Given the description of an element on the screen output the (x, y) to click on. 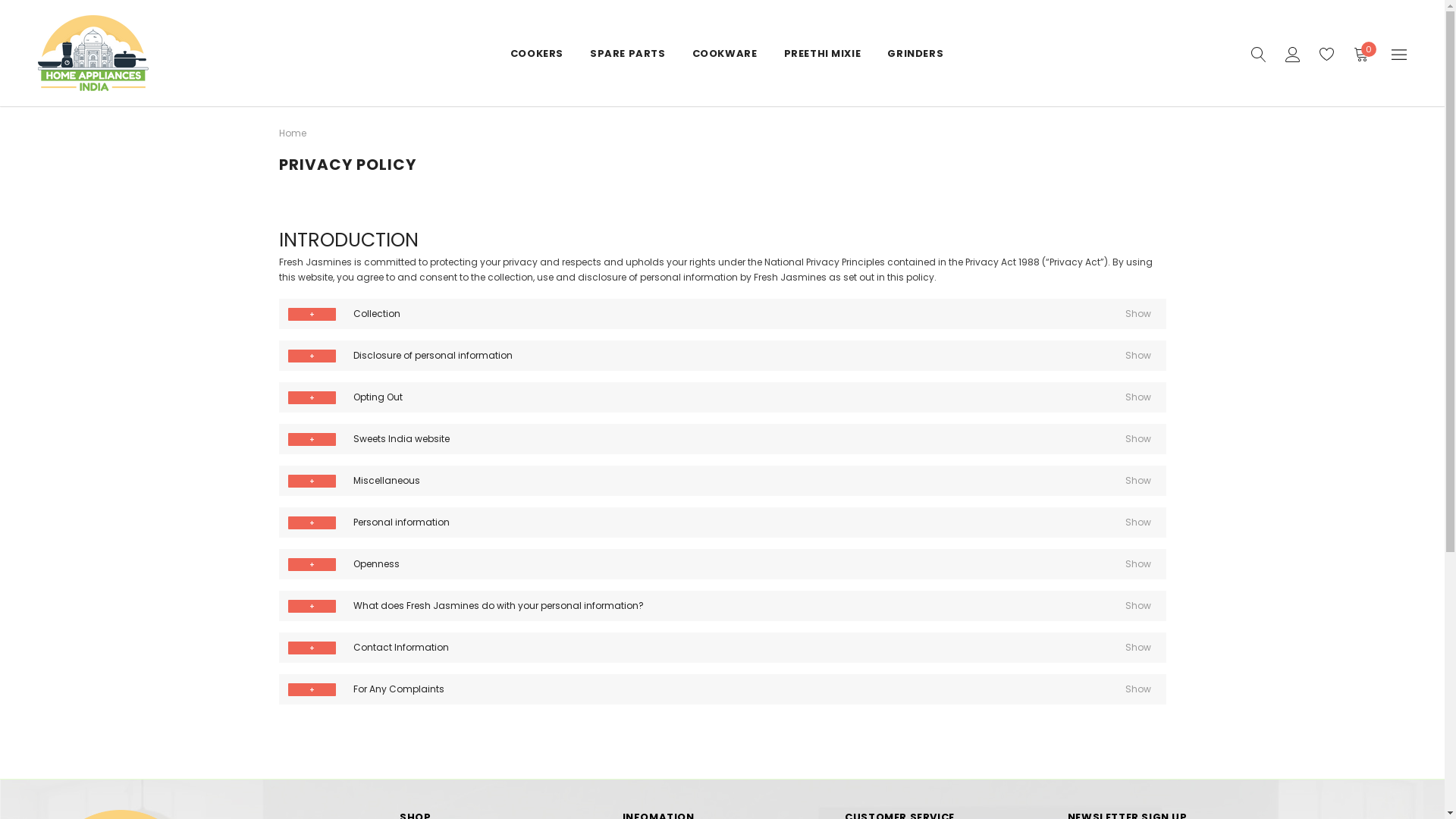
Home Appliances India Element type: hover (92, 53)
SPARE PARTS Element type: text (627, 52)
COOKERS Element type: text (536, 52)
+ Sweets India website
Show Element type: text (722, 438)
COOKWARE Element type: text (724, 52)
+ Personal information
Show Element type: text (722, 522)
Home Element type: text (292, 132)
PREETHI MIXIE Element type: text (822, 52)
+ Opting Out
Show Element type: text (722, 397)
GRINDERS Element type: text (915, 52)
+ For Any Complaints
Show Element type: text (722, 689)
+ Collection
Show Element type: text (722, 313)
+ Openness
Show Element type: text (722, 564)
+ Contact Information
Show Element type: text (722, 647)
0 Element type: text (1360, 53)
+ Miscellaneous
Show Element type: text (722, 480)
+ Disclosure of personal information
Show Element type: text (722, 355)
